Given the description of an element on the screen output the (x, y) to click on. 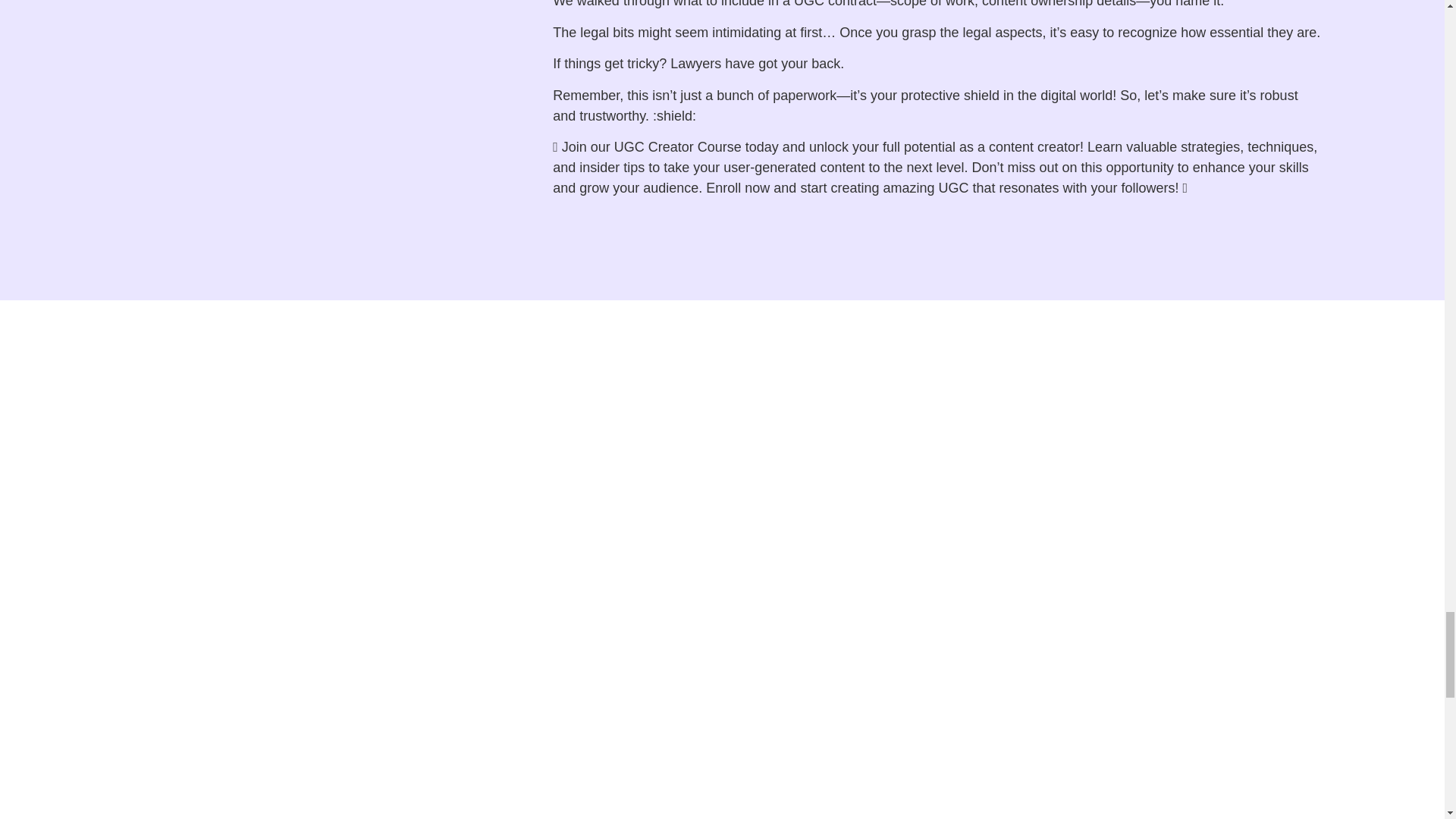
How to Become a UGC Pet Creator? (418, 508)
